Given the description of an element on the screen output the (x, y) to click on. 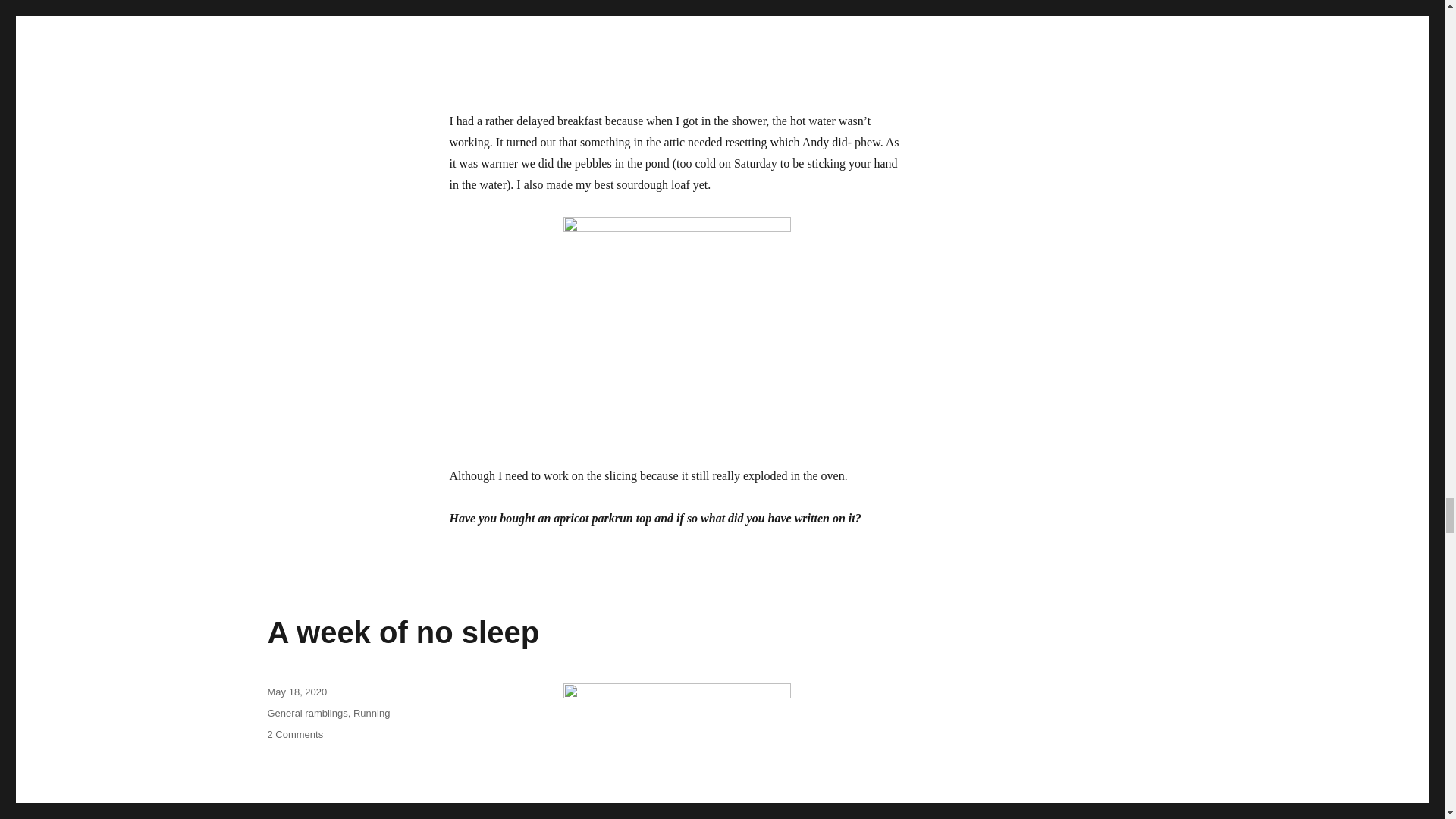
May 18, 2020 (296, 691)
A week of no sleep (402, 632)
General ramblings (306, 713)
Running (294, 734)
